Given the description of an element on the screen output the (x, y) to click on. 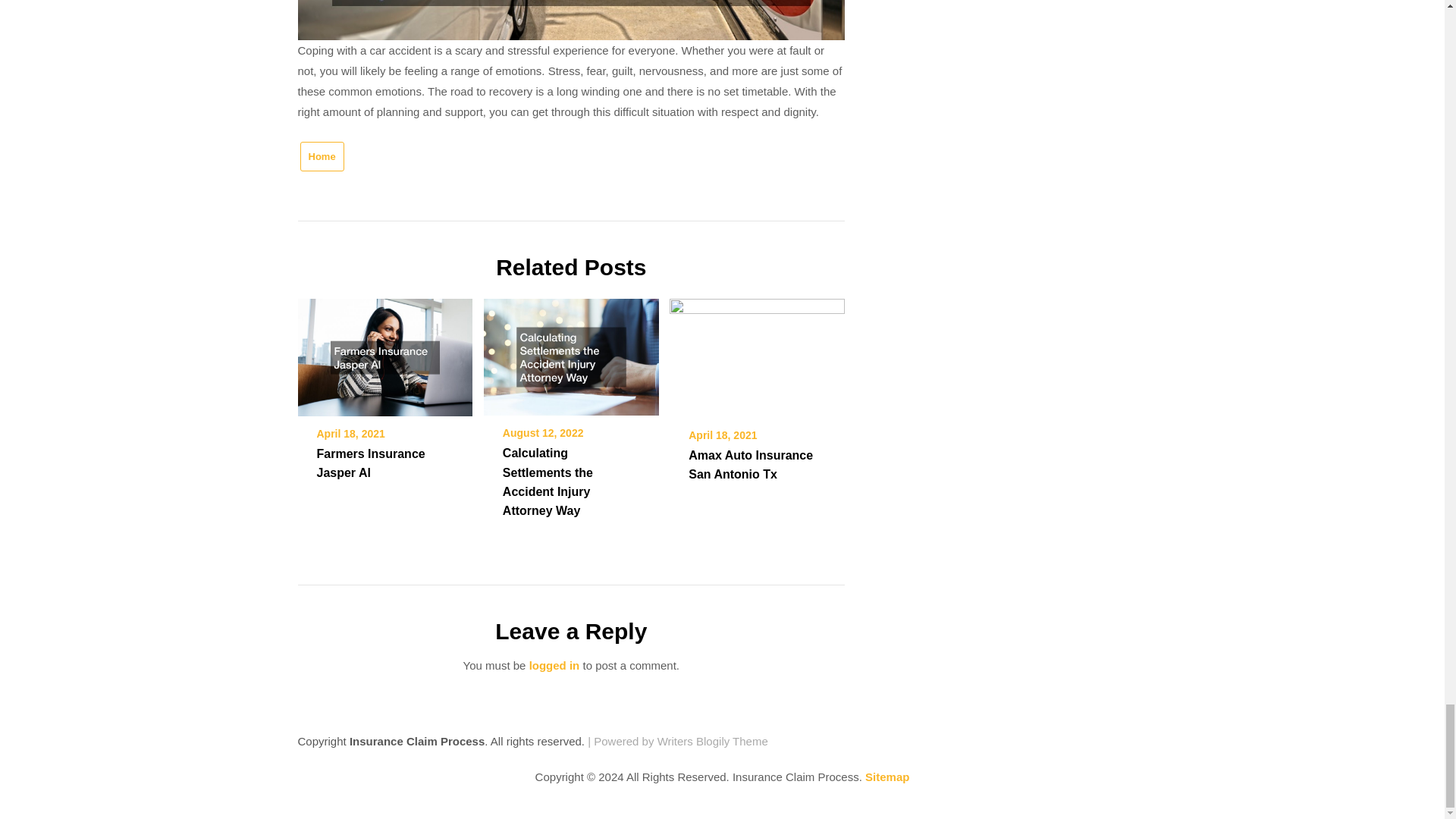
Farmers Insurance Jasper Al (371, 463)
Amax Auto Insurance San Antonio Tx (750, 464)
Insurance Claim Process (416, 740)
Amax Auto Insurance San Antonio Tx (756, 353)
Calculating Settlements the Accident Injury Attorney Way (547, 481)
logged in (554, 665)
Sitemap (886, 776)
Farmers Insurance Jasper Al (384, 352)
Calculating Settlements the Accident Injury Attorney Way (571, 351)
Home (321, 156)
